Given the description of an element on the screen output the (x, y) to click on. 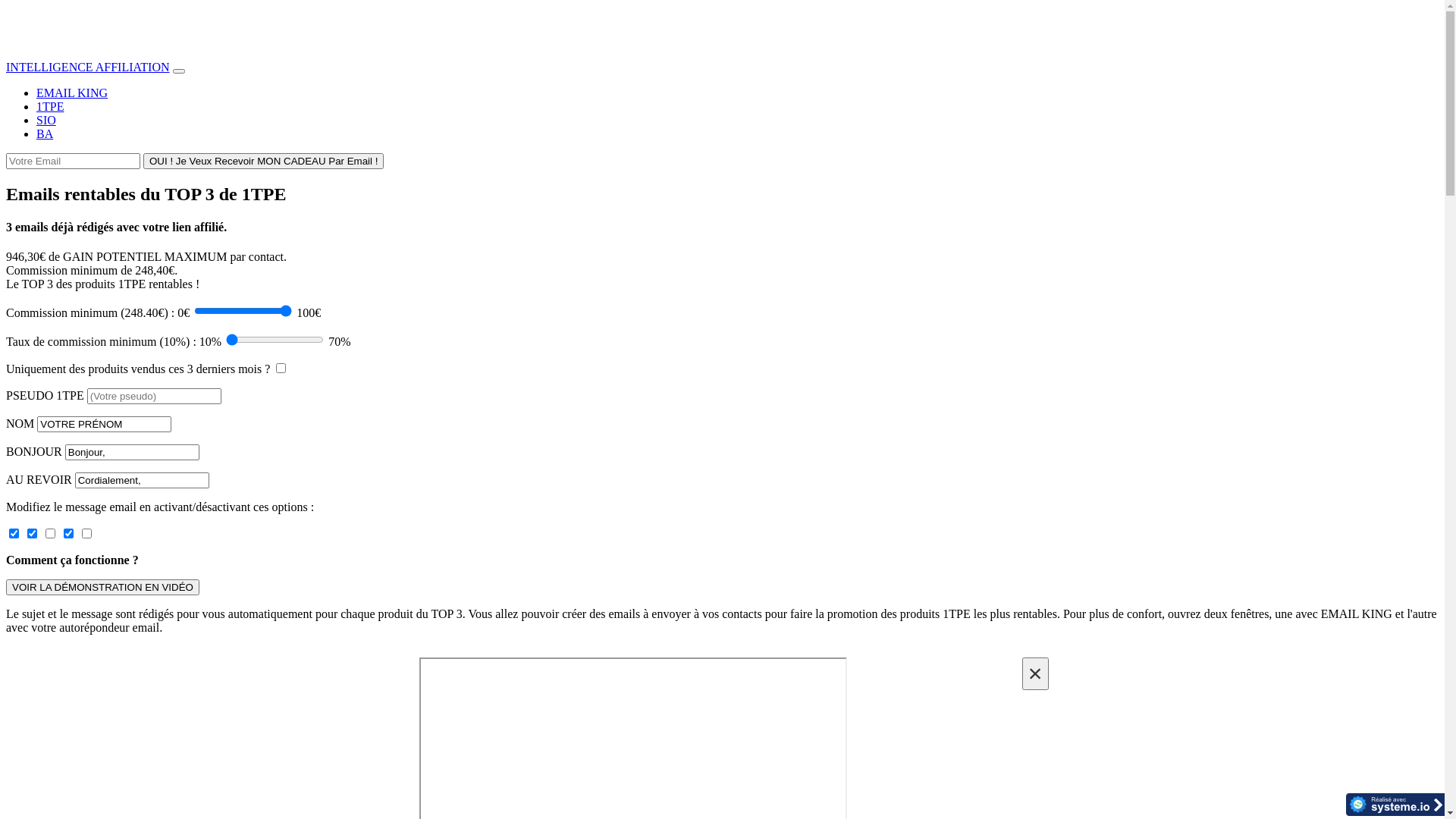
EMAIL KING Element type: text (71, 92)
OUI ! Je Veux Recevoir MON CADEAU Par Email ! Element type: text (263, 161)
SIO Element type: text (46, 119)
1TPE Element type: text (49, 106)
INTELLIGENCE AFFILIATION Element type: text (87, 66)
BA Element type: text (44, 133)
